Given the description of an element on the screen output the (x, y) to click on. 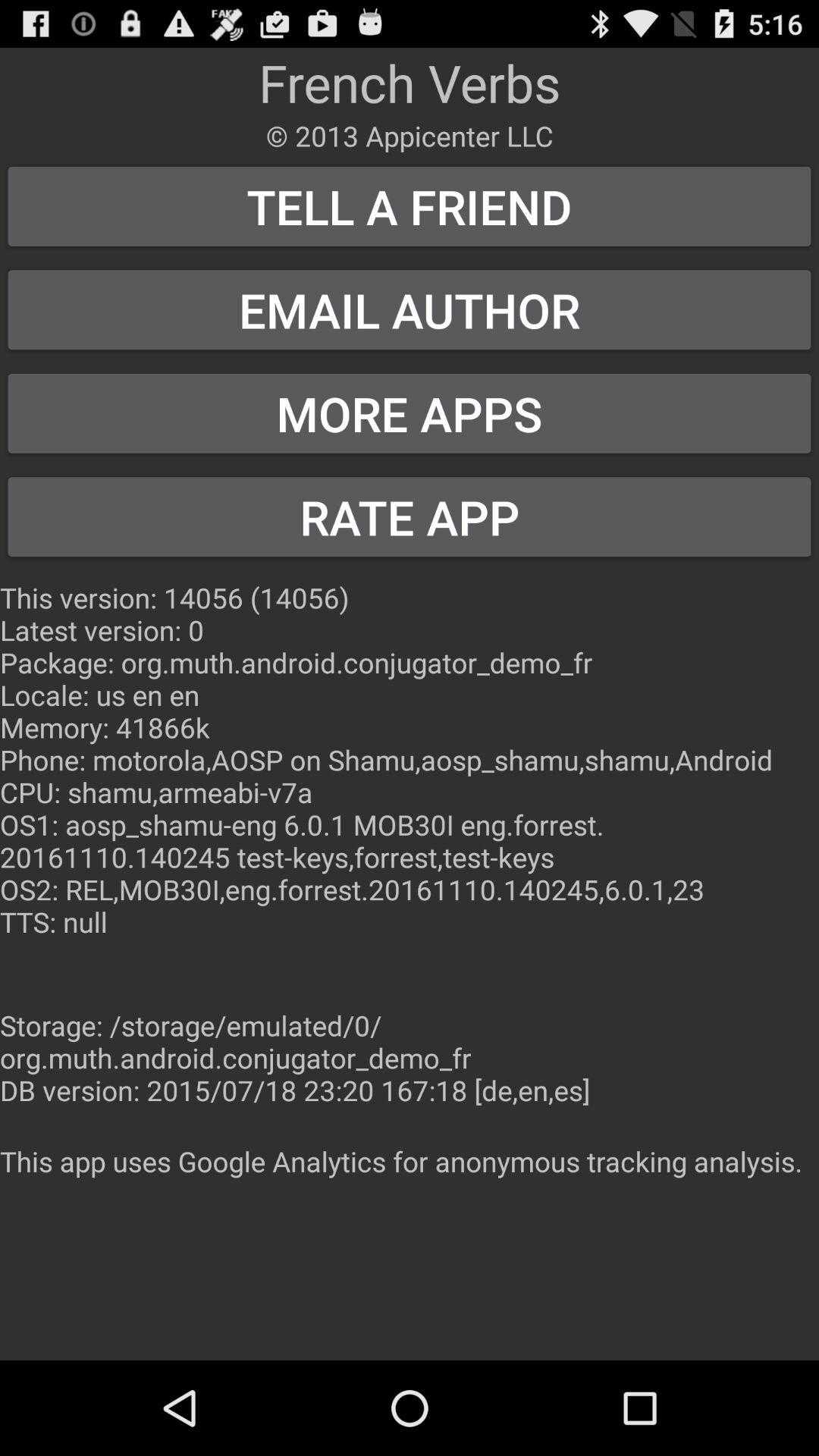
press tell a friend button (409, 206)
